Given the description of an element on the screen output the (x, y) to click on. 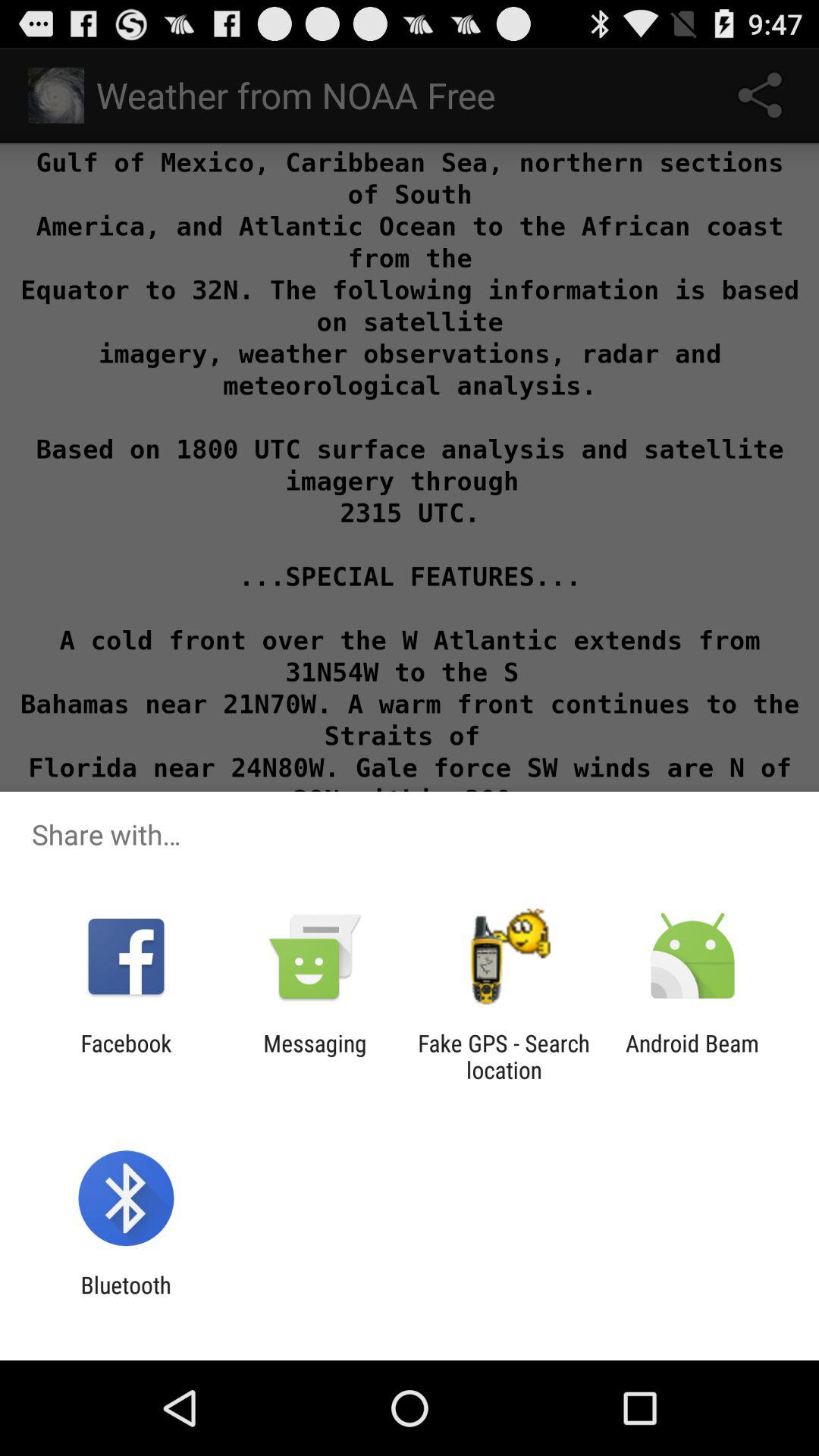
scroll until the messaging icon (314, 1056)
